Given the description of an element on the screen output the (x, y) to click on. 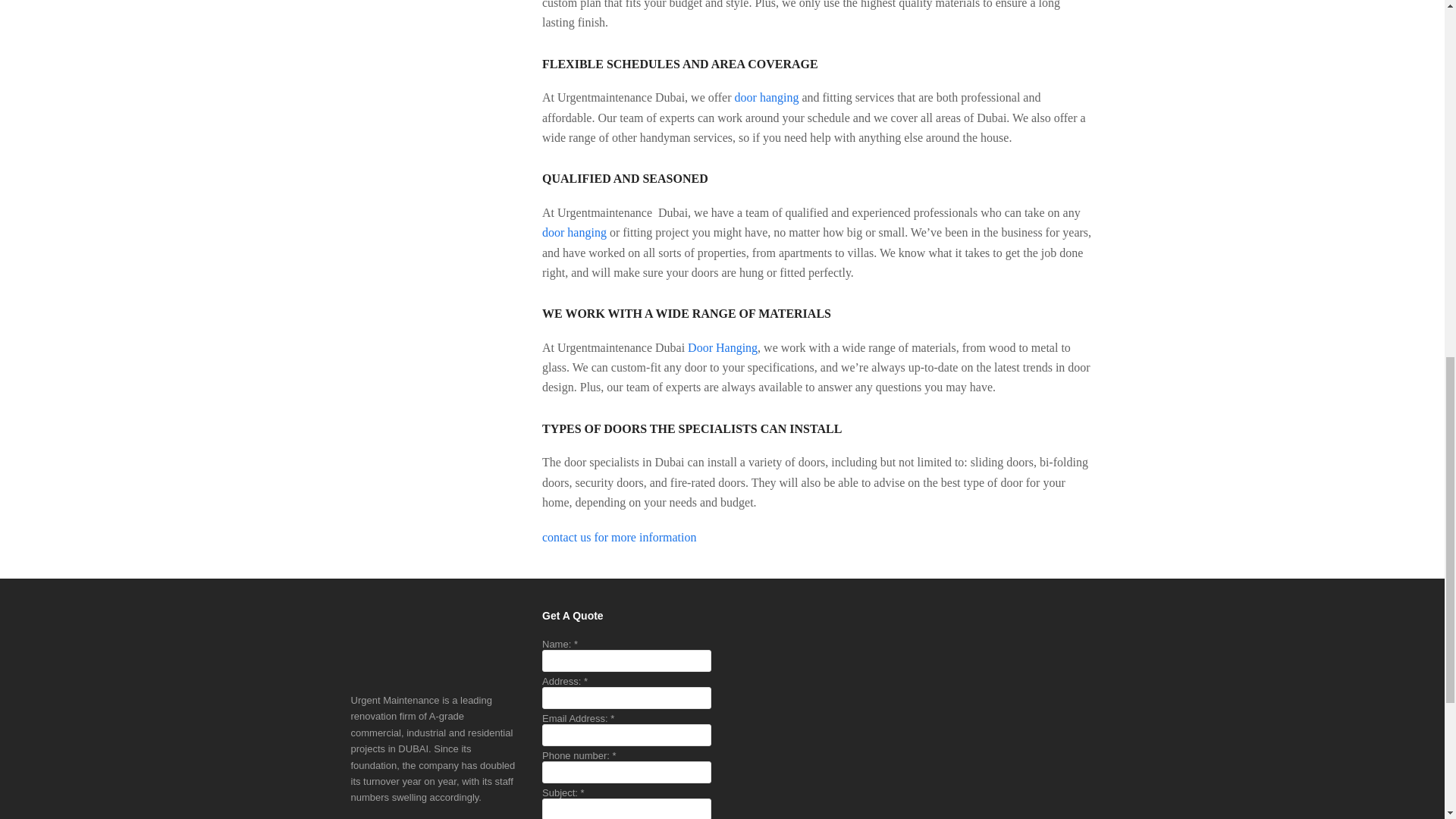
door hanging (574, 232)
Door Hanging (722, 347)
door hanging (767, 97)
contact us for more information  (620, 536)
